Given the description of an element on the screen output the (x, y) to click on. 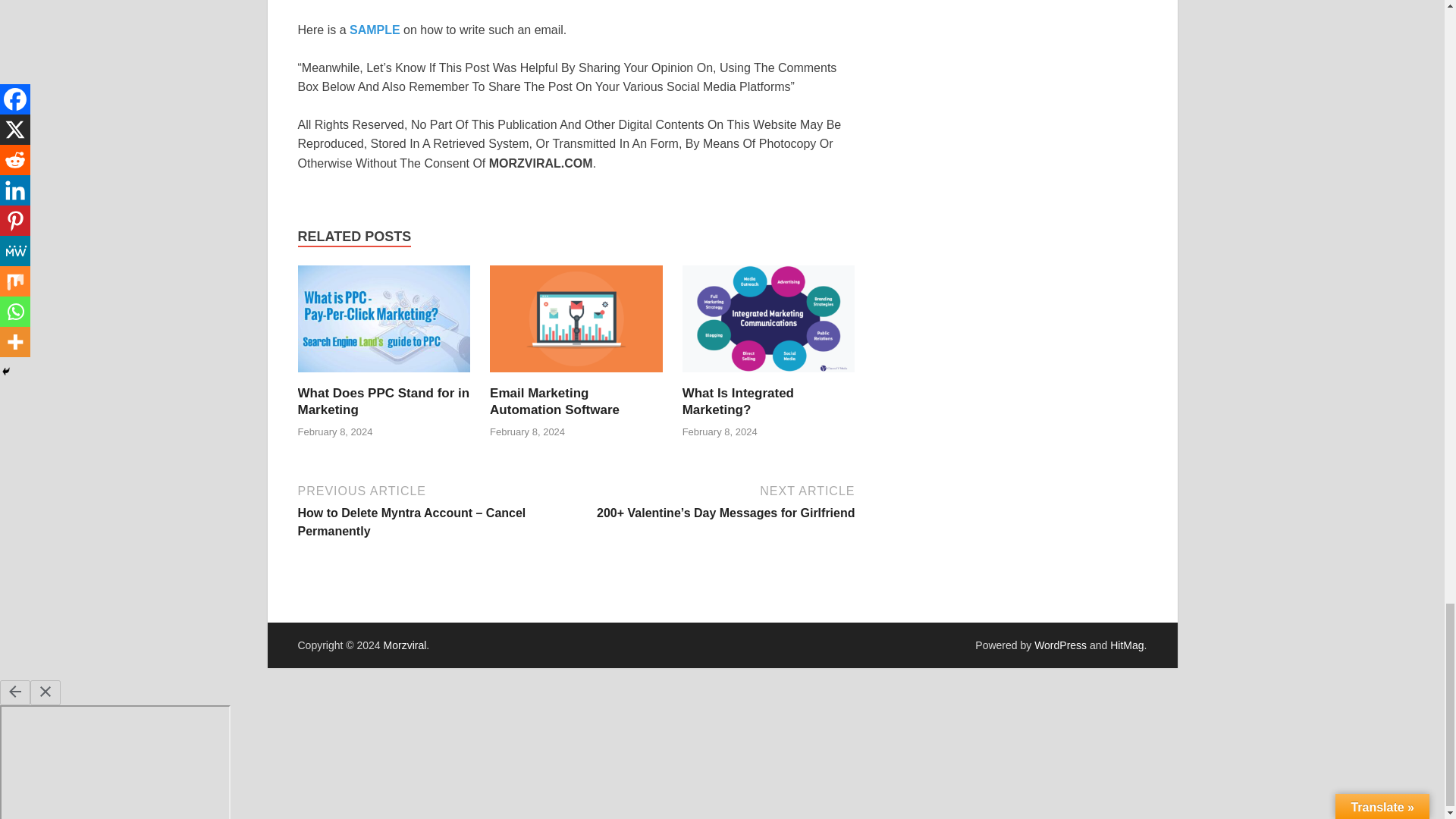
SAMPLE (374, 29)
